Given the description of an element on the screen output the (x, y) to click on. 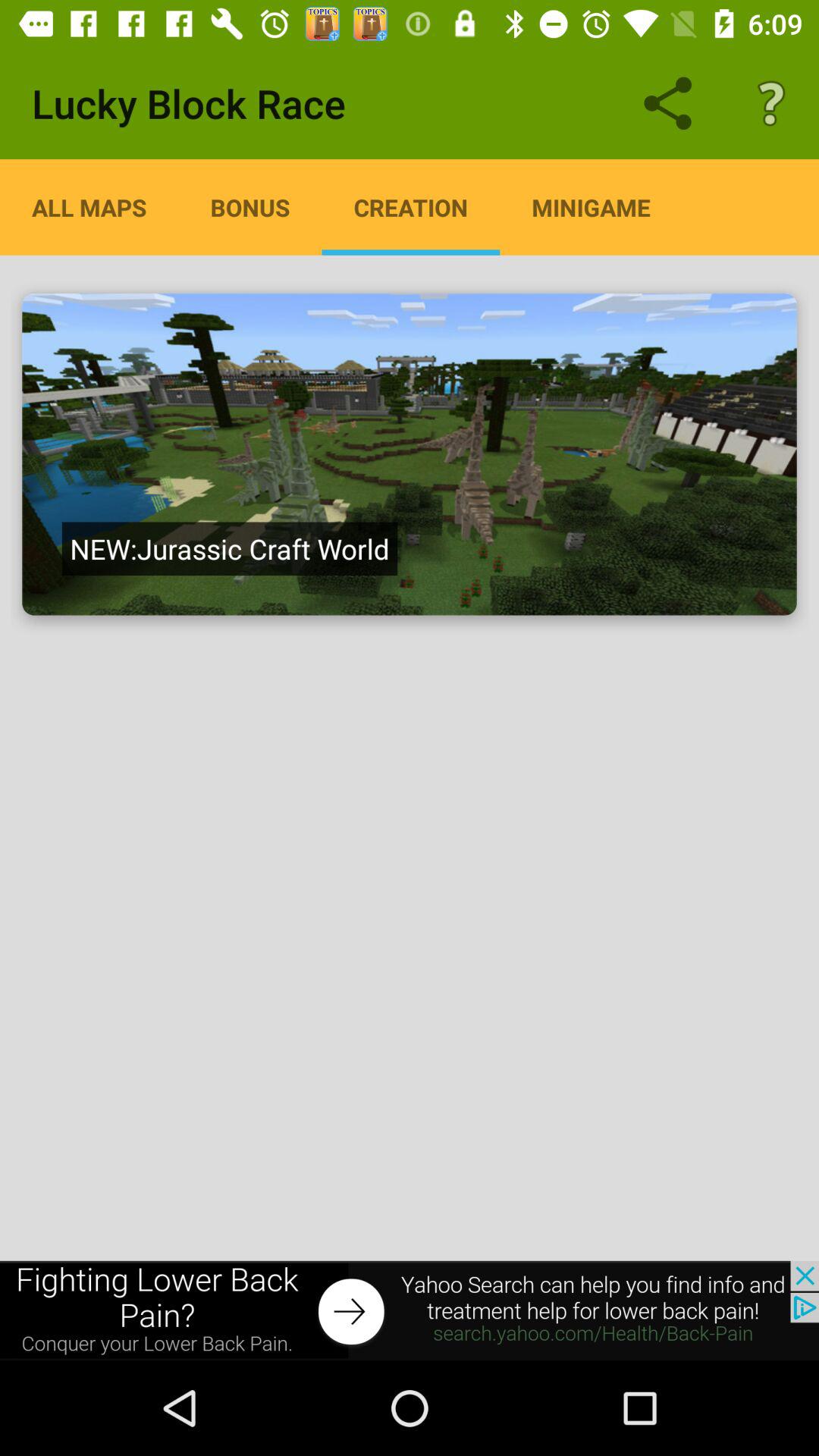
click on share icon (668, 103)
select the tab minigame on the web page (590, 207)
click on creation (410, 207)
